Given the description of an element on the screen output the (x, y) to click on. 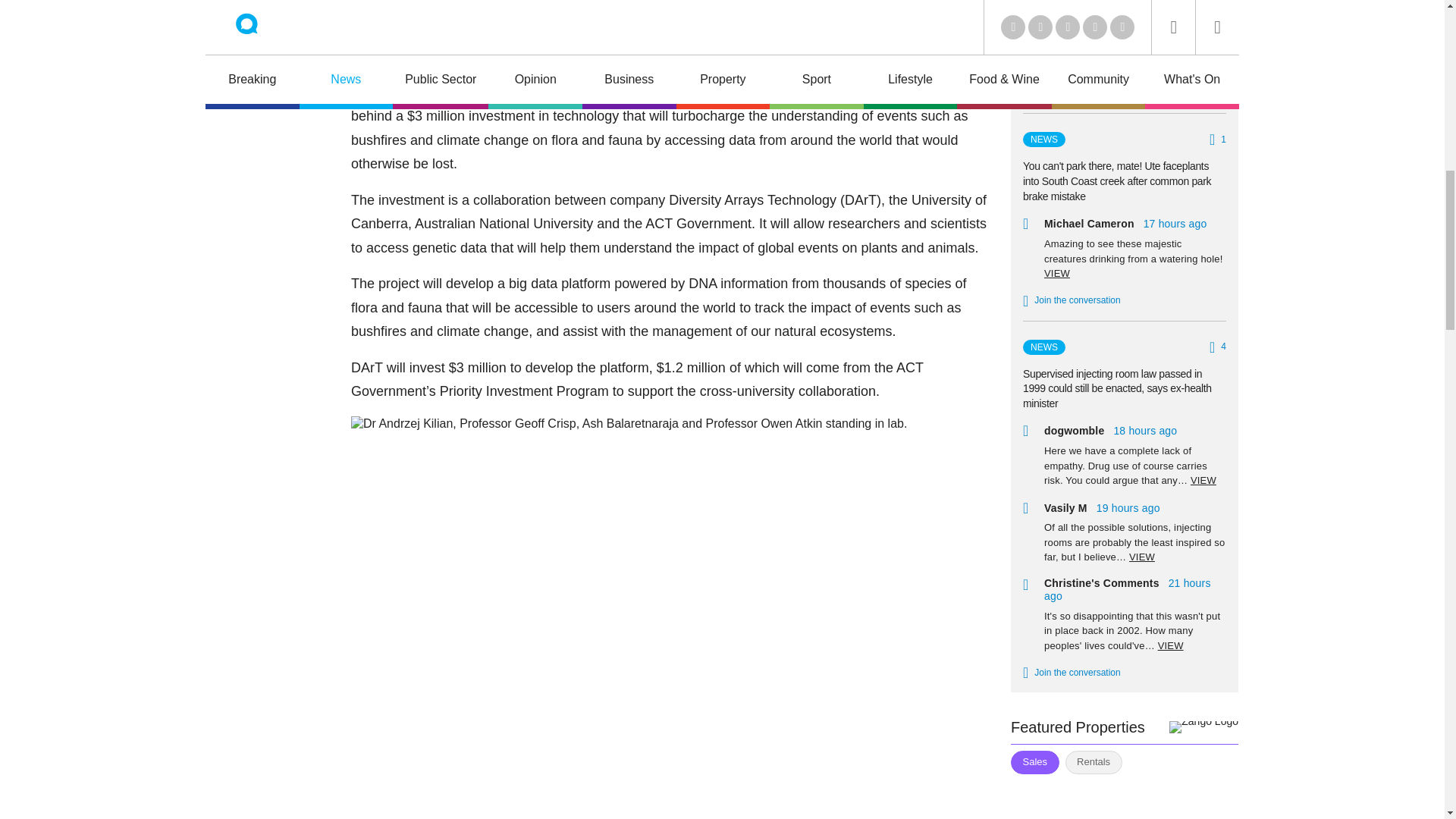
Zango (1204, 727)
Zango Sales (1124, 799)
